Given the description of an element on the screen output the (x, y) to click on. 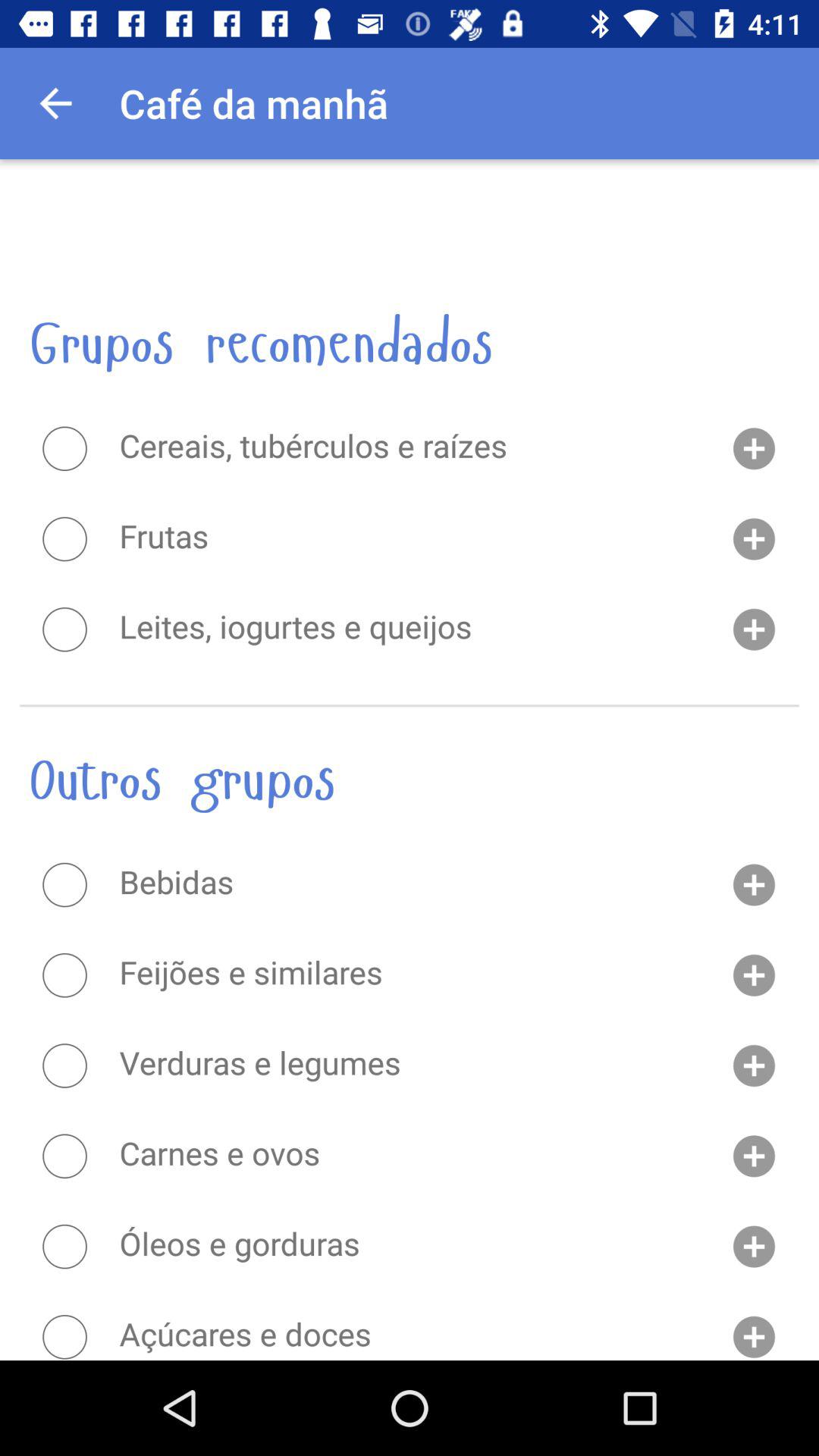
select line (64, 975)
